Given the description of an element on the screen output the (x, y) to click on. 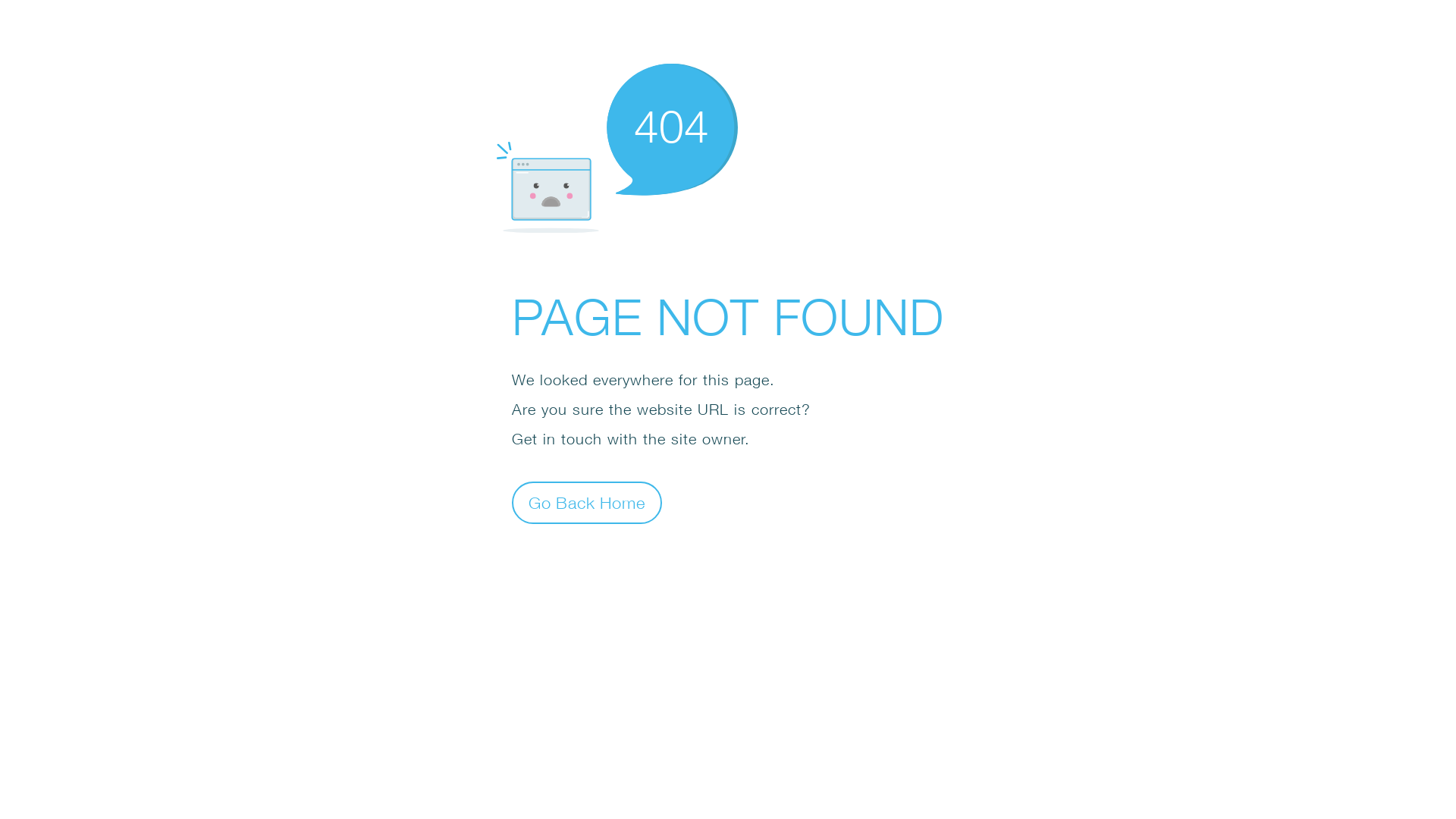
Go Back Home Element type: text (586, 502)
